Given the description of an element on the screen output the (x, y) to click on. 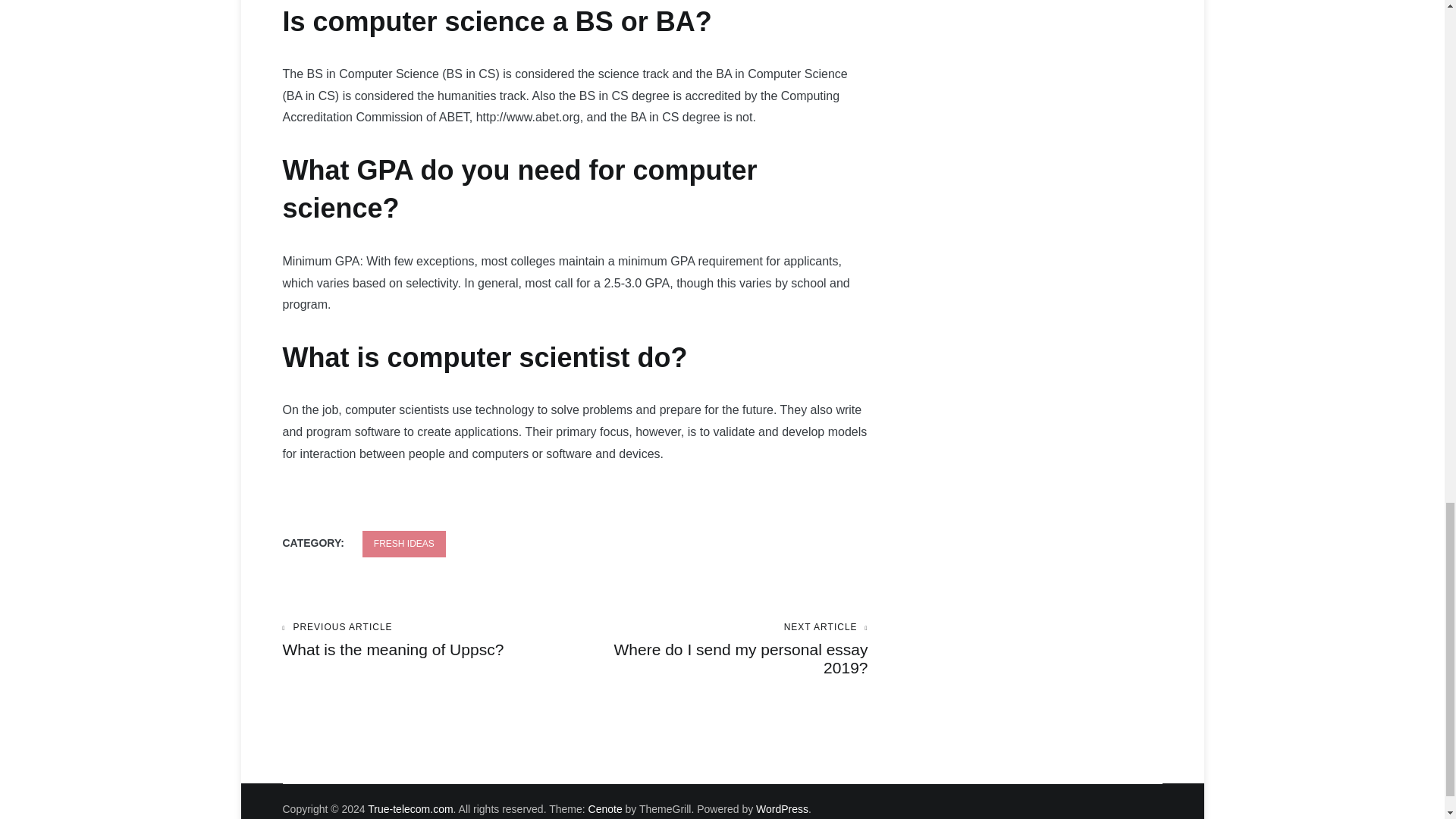
True-telecom.com (410, 808)
FRESH IDEAS (721, 649)
